Given the description of an element on the screen output the (x, y) to click on. 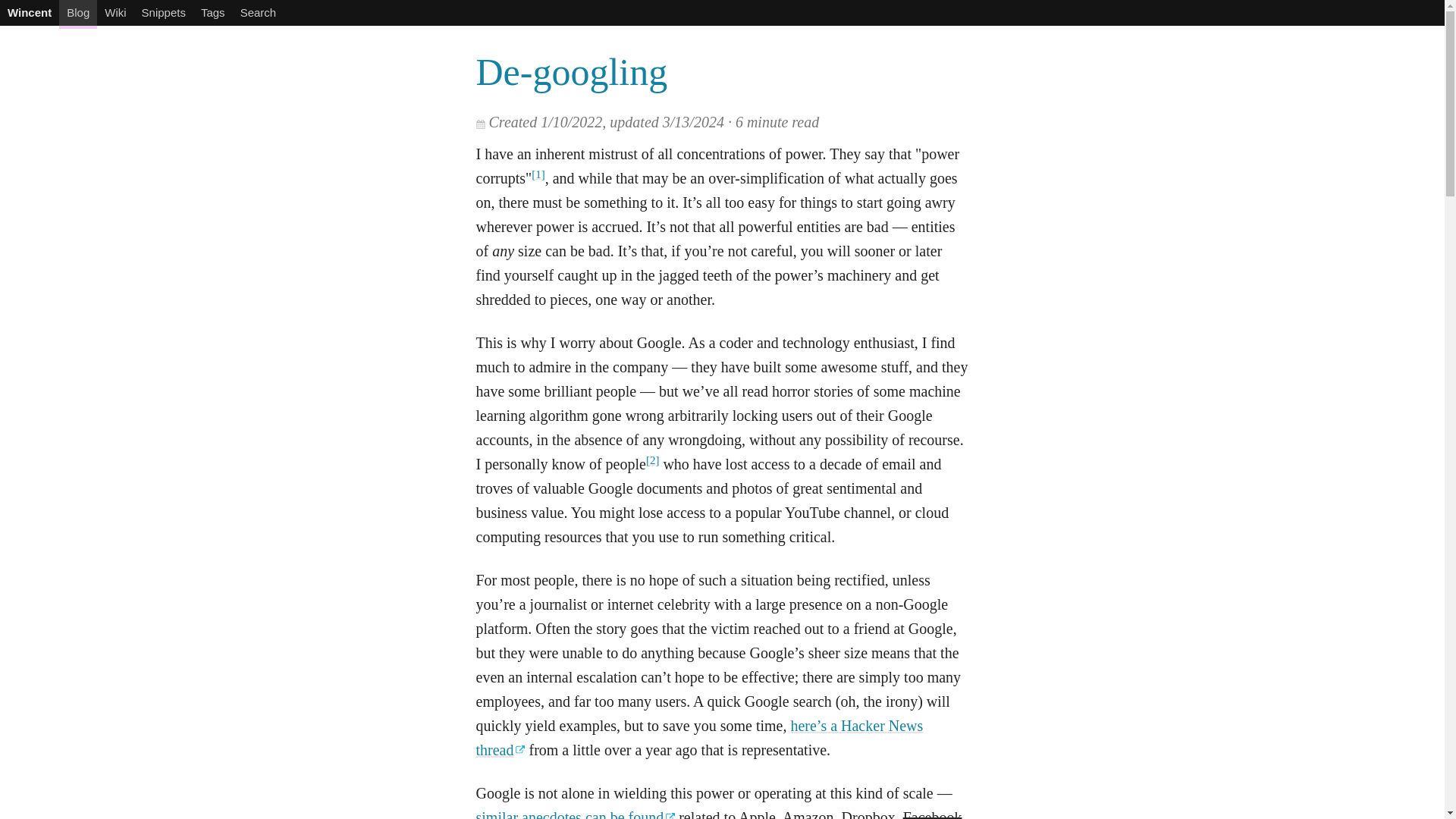
Tags (212, 12)
Snippets (163, 12)
Blog (78, 14)
Search (257, 12)
Wiki (115, 12)
Wincent (29, 12)
similar anecdotes can be found (575, 814)
De-googling (572, 71)
